Given the description of an element on the screen output the (x, y) to click on. 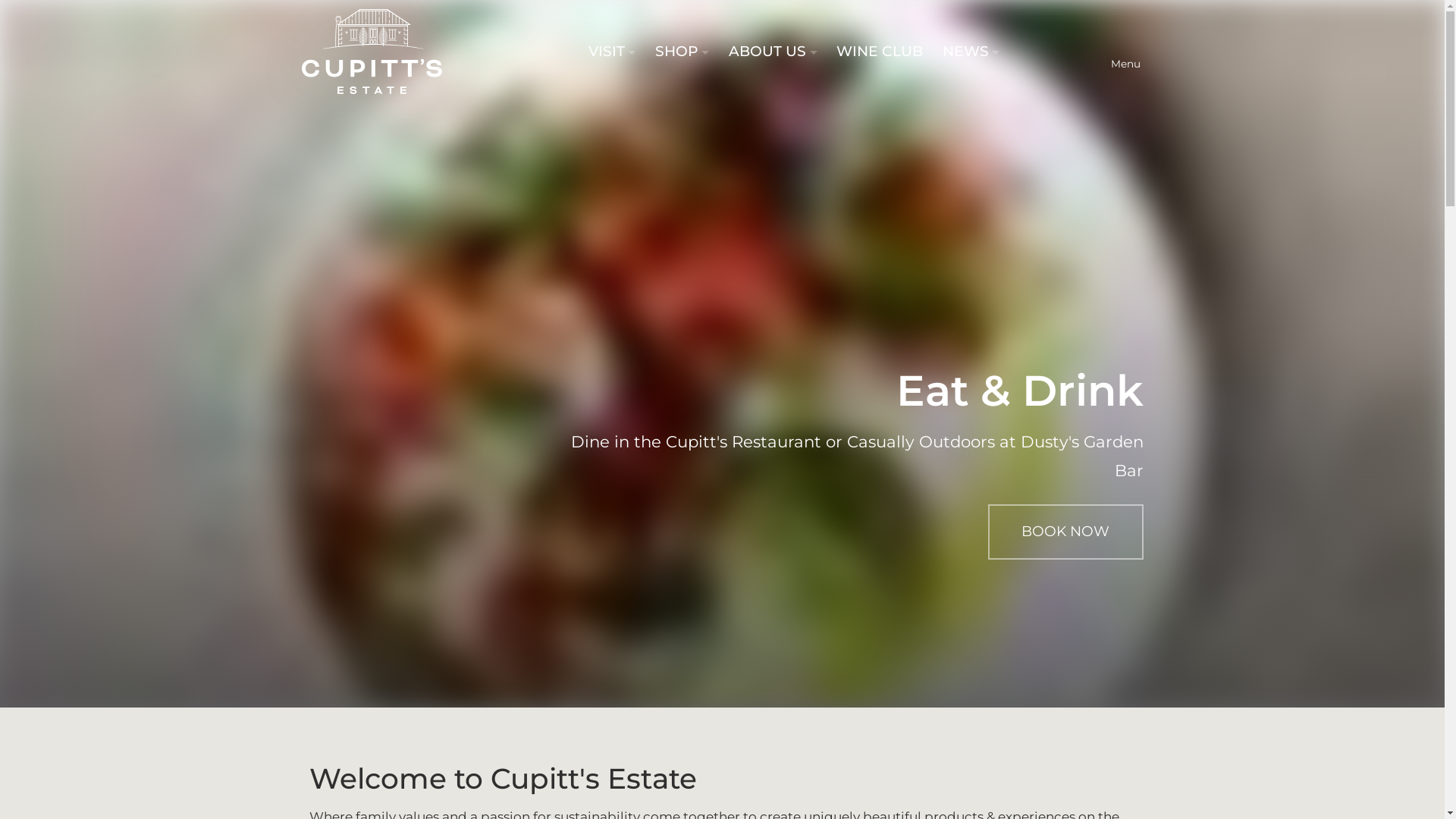
Cart Element type: hover (1034, 51)
SHOP Element type: text (682, 51)
User Login Element type: hover (1083, 51)
Cupitt's Estate Logo Element type: hover (371, 51)
VISIT Element type: text (612, 51)
NEWS Element type: text (971, 51)
Eat & Drink Element type: hover (722, 353)
Menu Element type: text (1125, 51)
ABOUT US Element type: text (772, 51)
WINE CLUB Element type: text (879, 51)
BOOK NOW Element type: text (1064, 531)
